Given the description of an element on the screen output the (x, y) to click on. 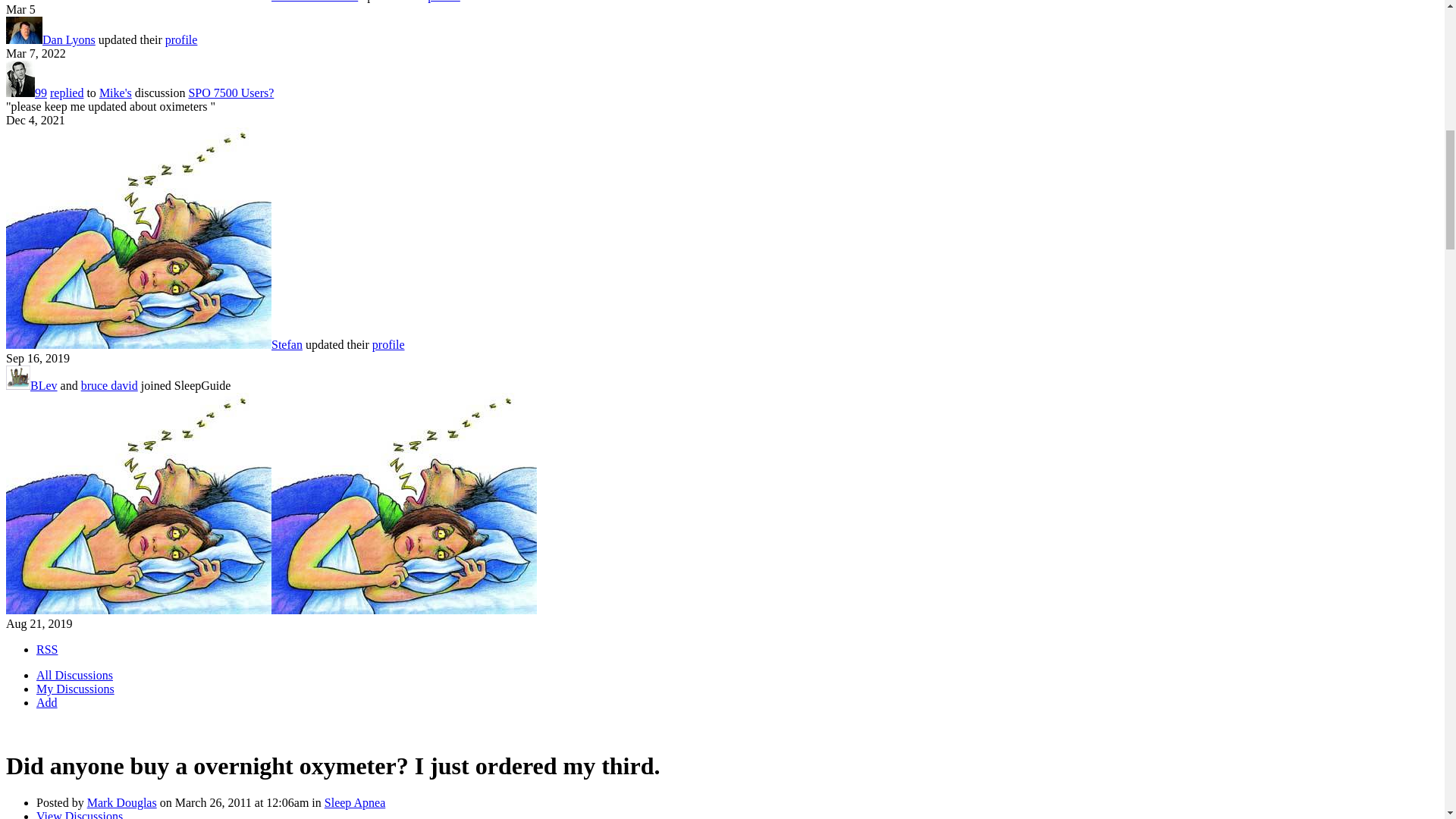
profile (388, 344)
profile (444, 1)
SPO 7500 Users? (230, 92)
99 (40, 92)
Mike's (115, 92)
Stefan (286, 344)
Steven B. Ronsen (314, 1)
replied (65, 92)
profile (181, 39)
Dan Lyons (69, 39)
